Given the description of an element on the screen output the (x, y) to click on. 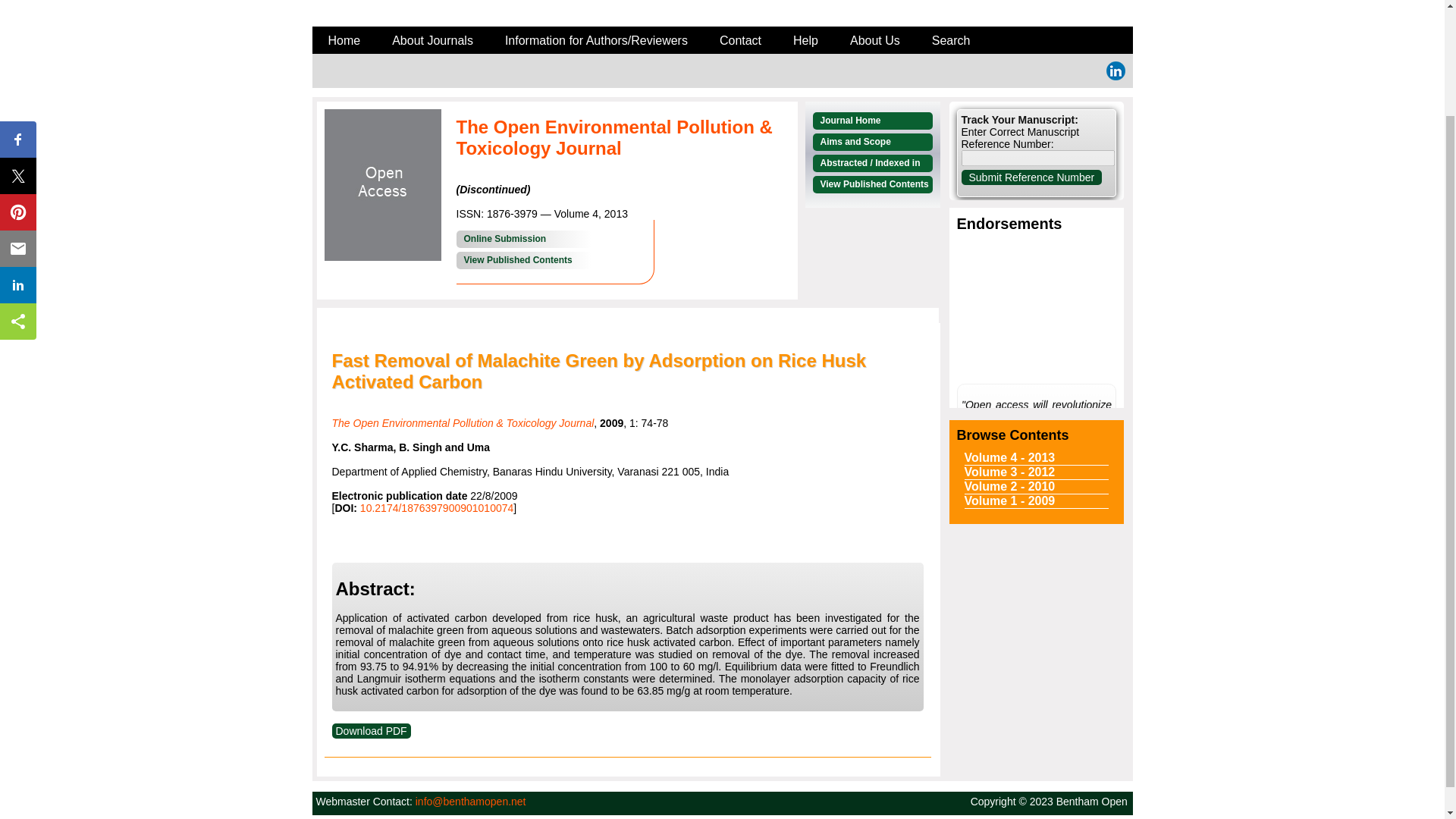
About Us (874, 40)
About Journals (432, 40)
Online Submission (524, 239)
Contact (740, 40)
Search (951, 40)
View Published Contents (524, 260)
Help (804, 40)
Home (344, 40)
